Given the description of an element on the screen output the (x, y) to click on. 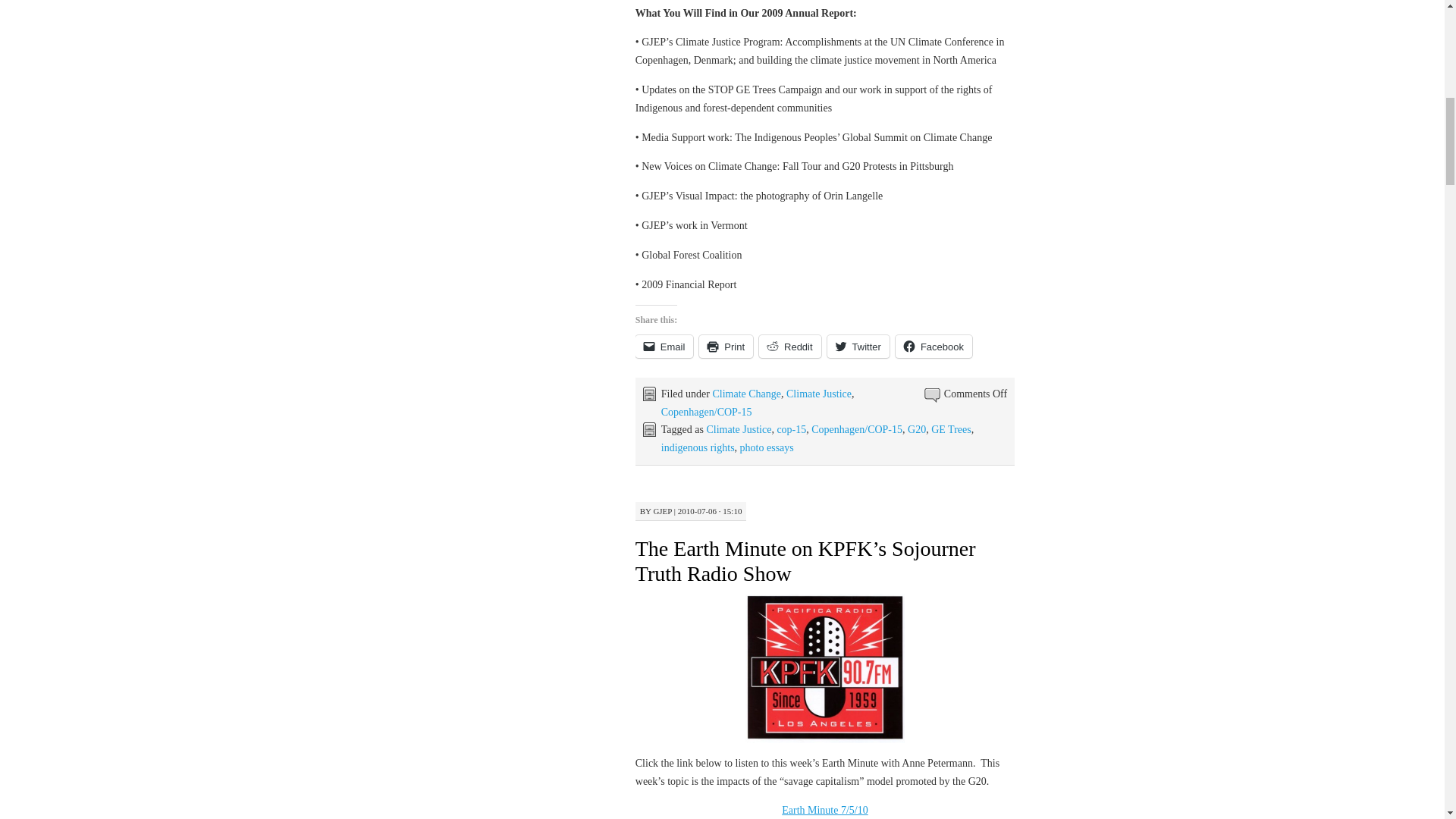
Click to print (725, 345)
Click to share on Reddit (789, 345)
GJEP (661, 510)
Climate Justice (818, 393)
Click to email a link to a friend (664, 345)
Twitter (858, 345)
photo essays (766, 447)
Click to share on Twitter (858, 345)
View all posts by GJEP (661, 510)
Facebook (933, 345)
